Given the description of an element on the screen output the (x, y) to click on. 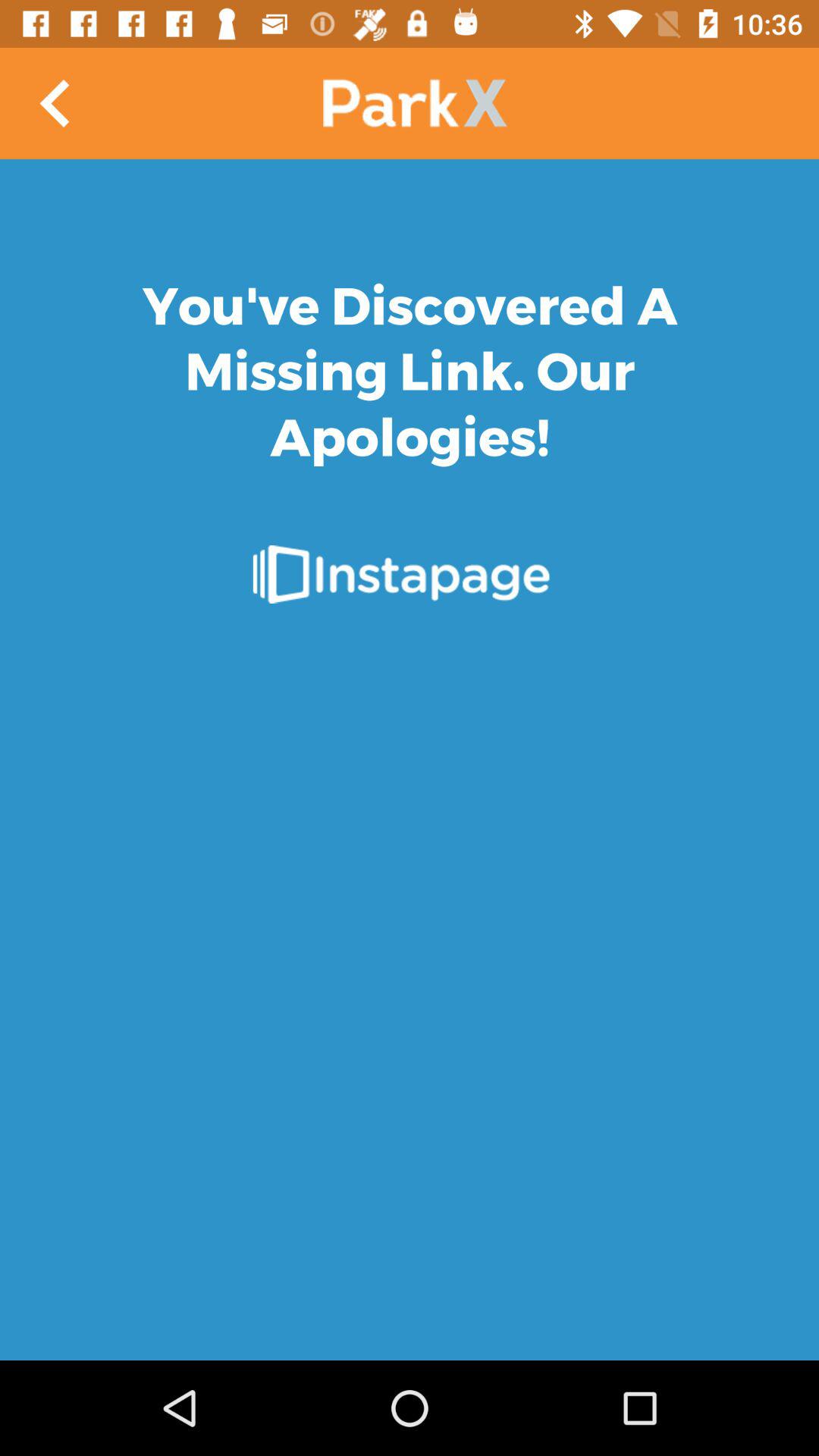
go back (55, 103)
